Given the description of an element on the screen output the (x, y) to click on. 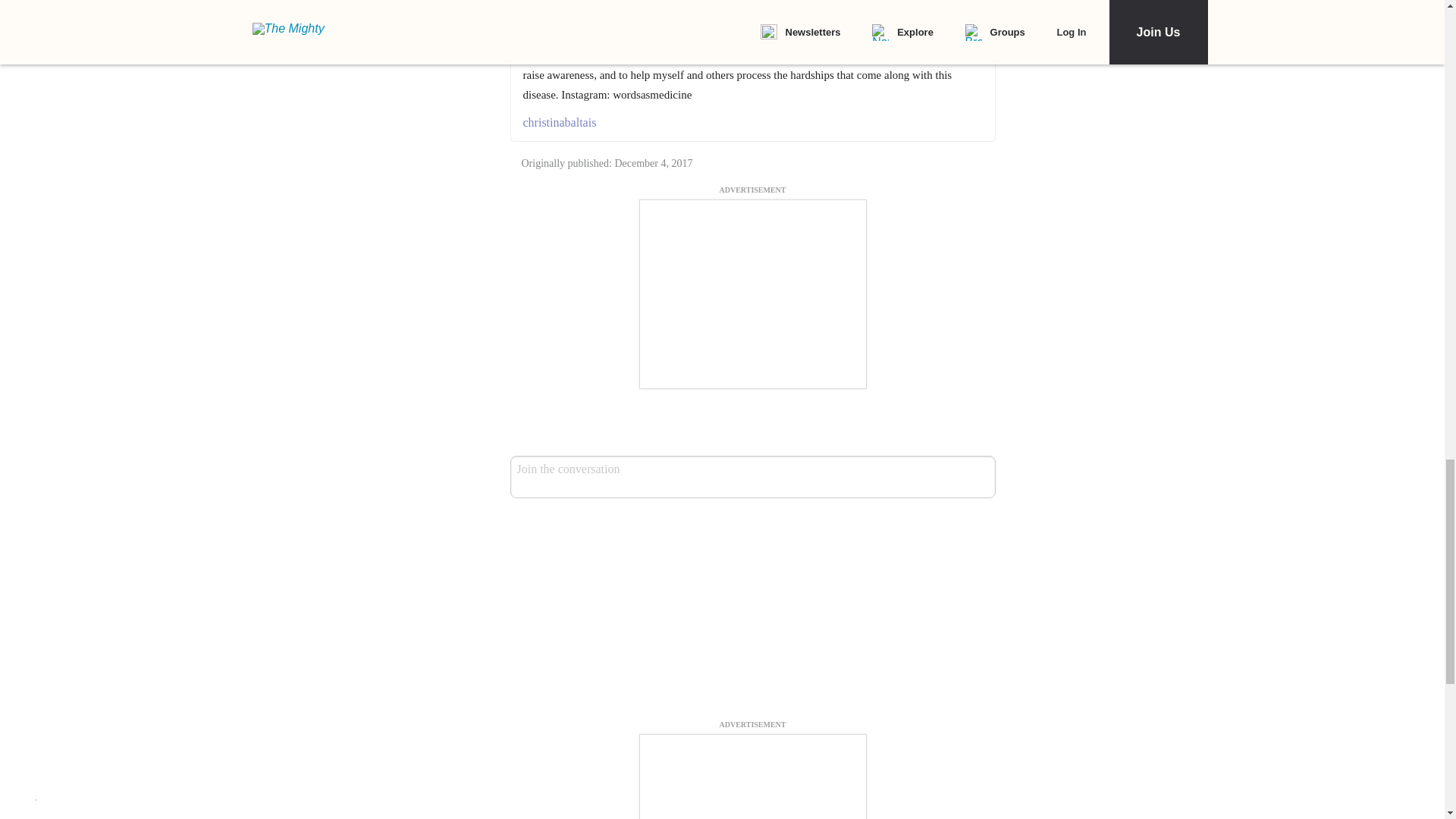
christinabaltais (752, 122)
Christina Baltais (624, 9)
Follow (694, 9)
